Given the description of an element on the screen output the (x, y) to click on. 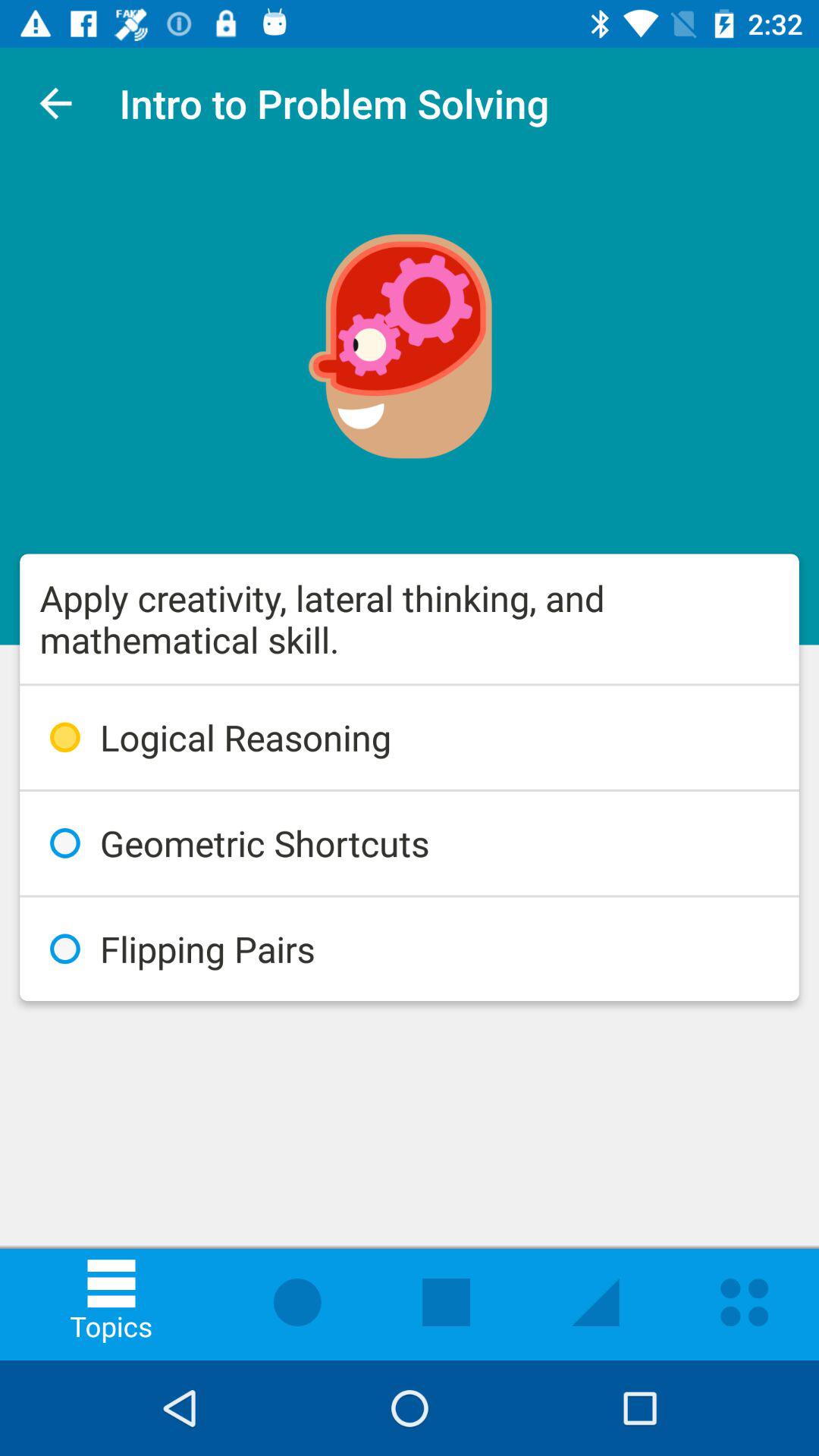
select the icon above the flipping pairs icon (409, 843)
